Given the description of an element on the screen output the (x, y) to click on. 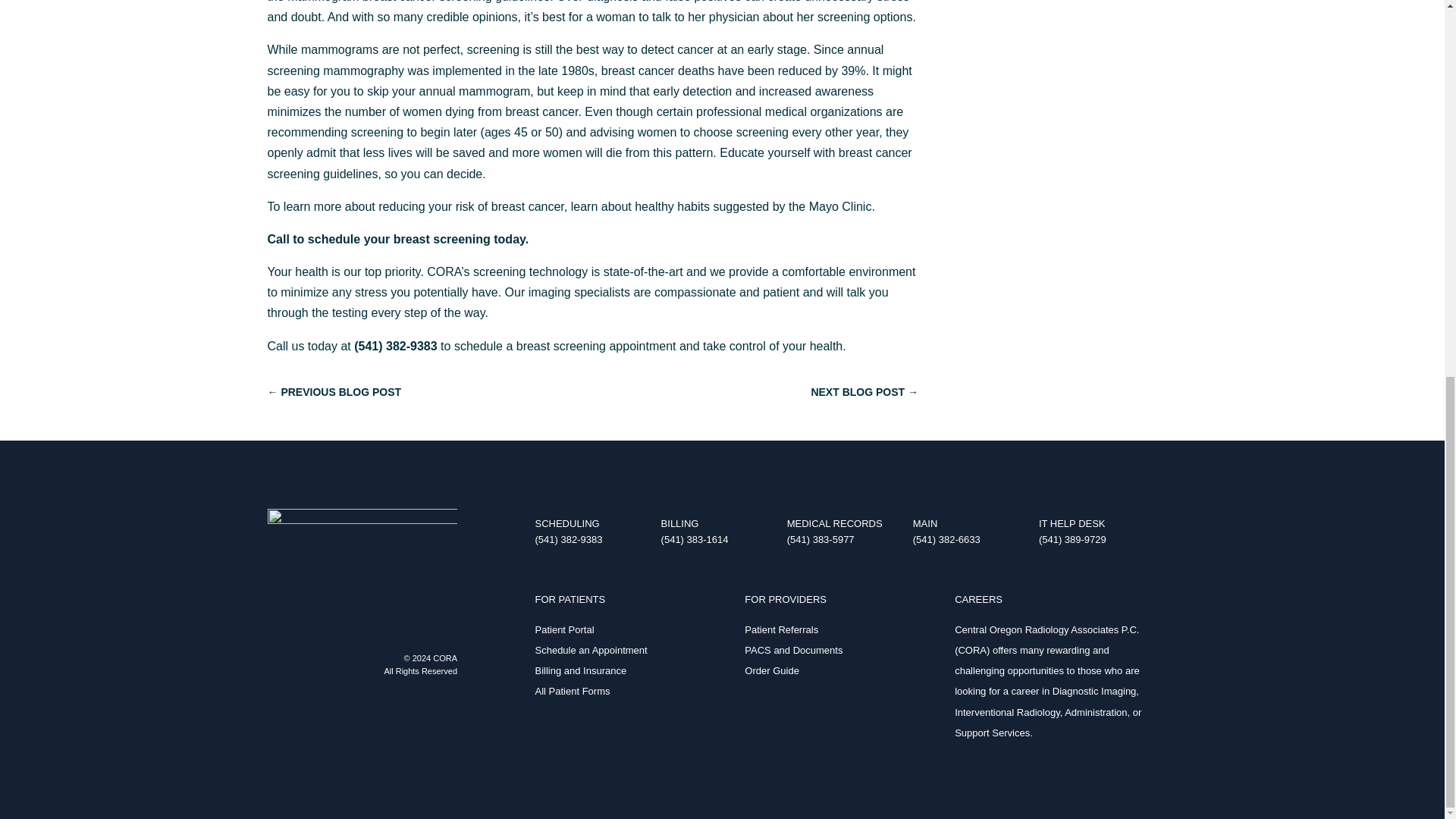
bottomlogo (361, 539)
